Given the description of an element on the screen output the (x, y) to click on. 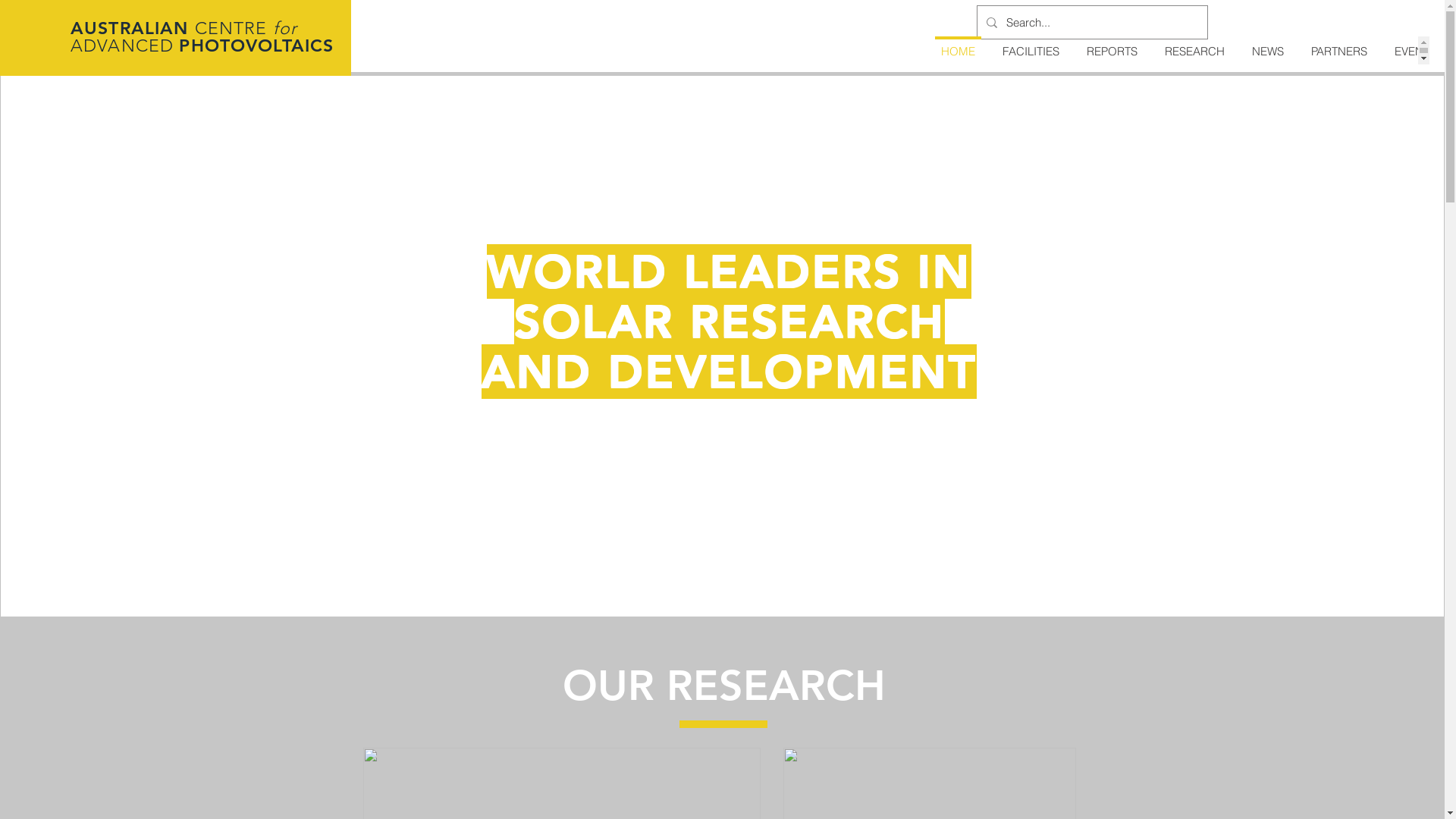
CENTRE for Element type: text (246, 28)
REPORTS Element type: text (1112, 50)
  Element type: text (191, 27)
EVENTS Element type: text (1414, 50)
RESEARCH Element type: text (1194, 50)
FACILITIES Element type: text (1030, 50)
PARTNERS Element type: text (1338, 50)
HOME Element type: text (957, 50)
AUSTRALIAN Element type: text (129, 27)
NEWS Element type: text (1267, 50)
